Given the description of an element on the screen output the (x, y) to click on. 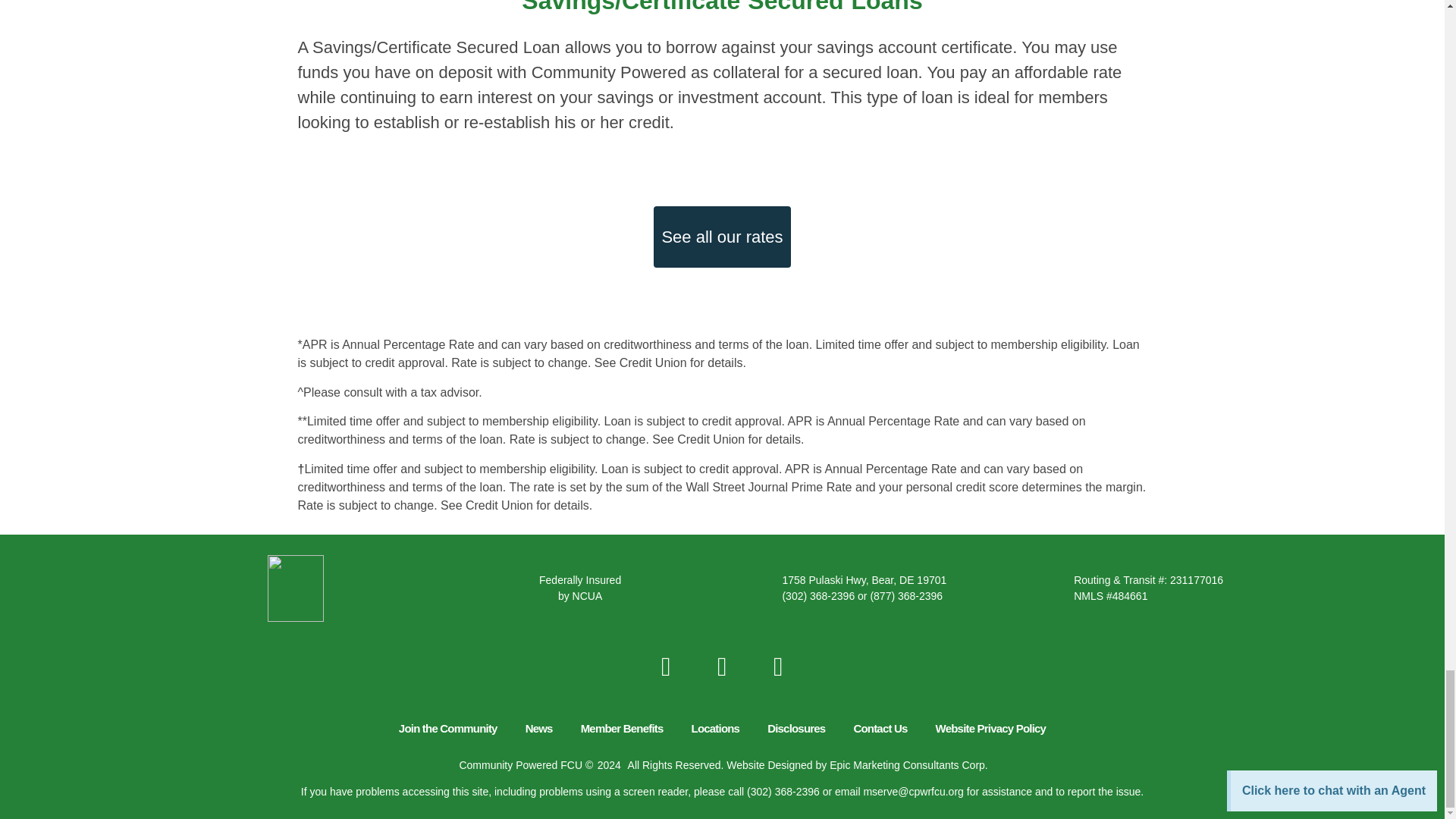
Page 3 (722, 85)
